Given the description of an element on the screen output the (x, y) to click on. 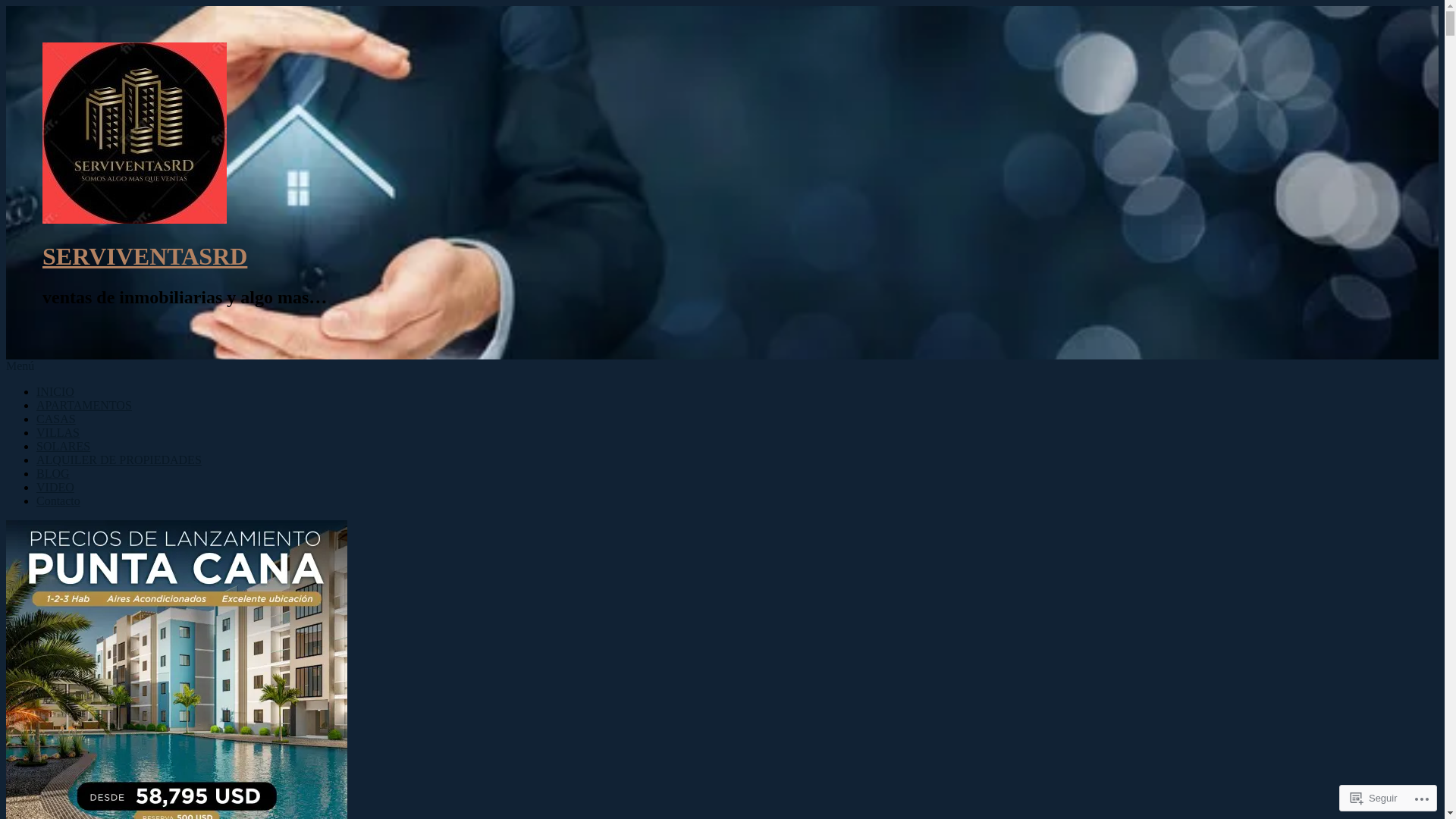
INICIO Element type: text (55, 391)
Contacto Element type: text (58, 500)
VILLAS Element type: text (57, 432)
BLOG Element type: text (52, 473)
SOLARES Element type: text (63, 445)
VIDEO Element type: text (55, 486)
SERVIVENTASRD Element type: text (144, 255)
ALQUILER DE PROPIEDADES Element type: text (118, 459)
CASAS Element type: text (55, 418)
APARTAMENTOS Element type: text (83, 404)
Seguir Element type: text (1373, 797)
